Given the description of an element on the screen output the (x, y) to click on. 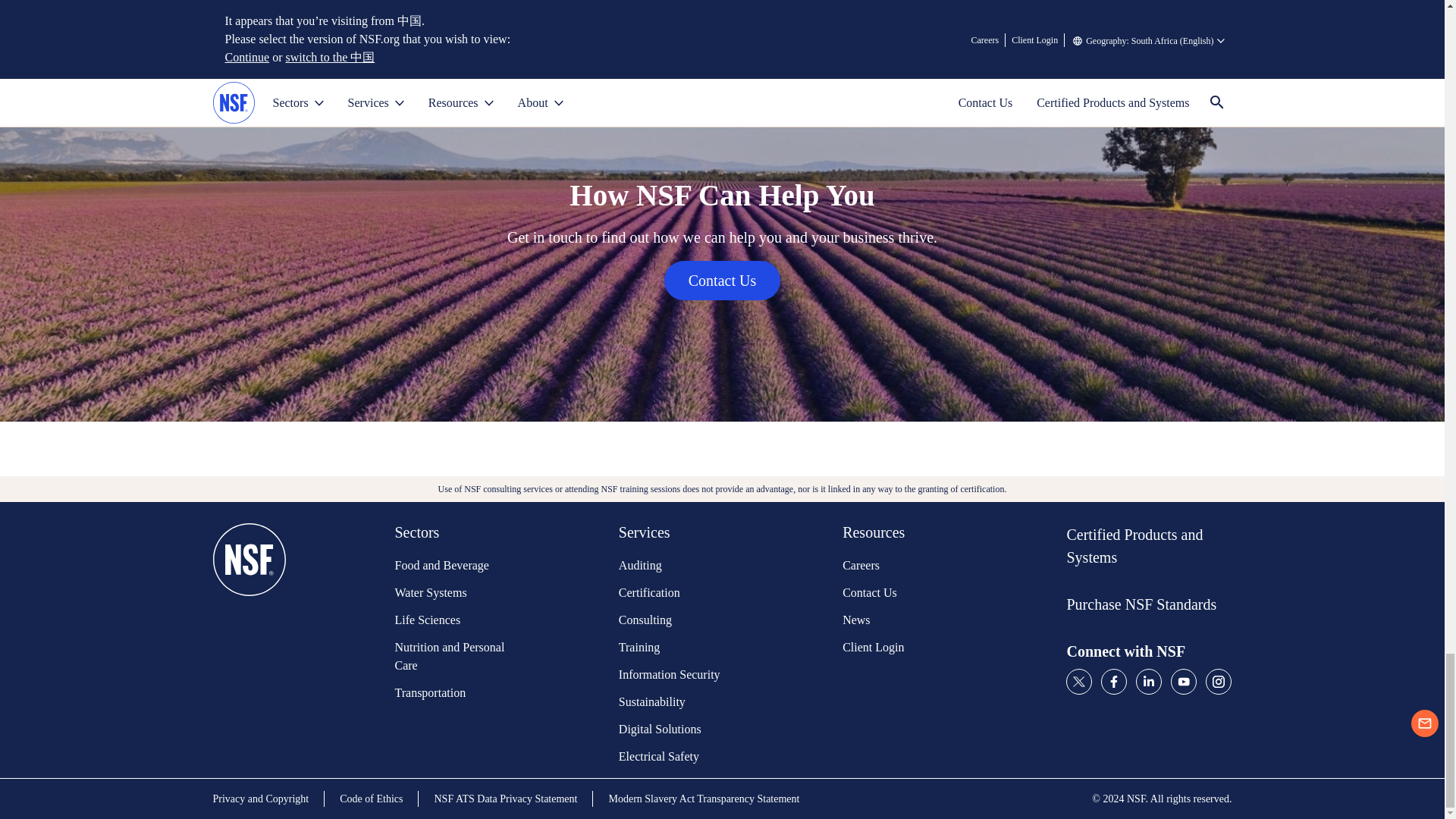
Water Systems (451, 592)
Transportation (451, 692)
Share by Email (557, 27)
Share on Twitter (503, 27)
Share on LinkedIn (397, 27)
Contact Us (721, 280)
Share on Facebook (450, 27)
Food and Beverage (451, 565)
Training (675, 647)
twitter (1078, 681)
